Given the description of an element on the screen output the (x, y) to click on. 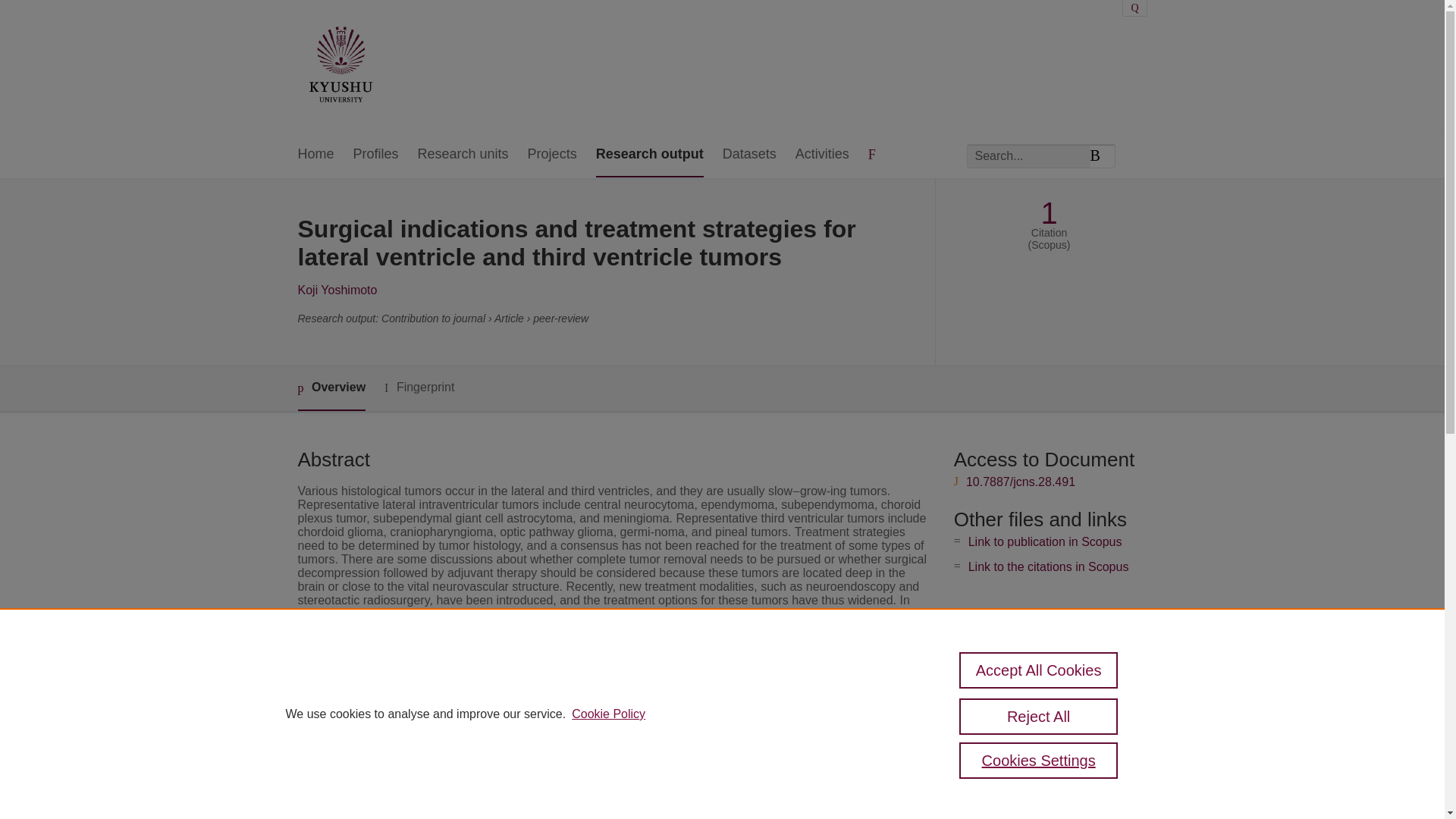
Activities (821, 154)
Datasets (749, 154)
Link to publication in Scopus (1045, 541)
Japanese Journal of Neurosurgery (600, 734)
Overview (331, 388)
Projects (551, 154)
Koji Yoshimoto (337, 289)
Profiles (375, 154)
Fingerprint (419, 387)
